Given the description of an element on the screen output the (x, y) to click on. 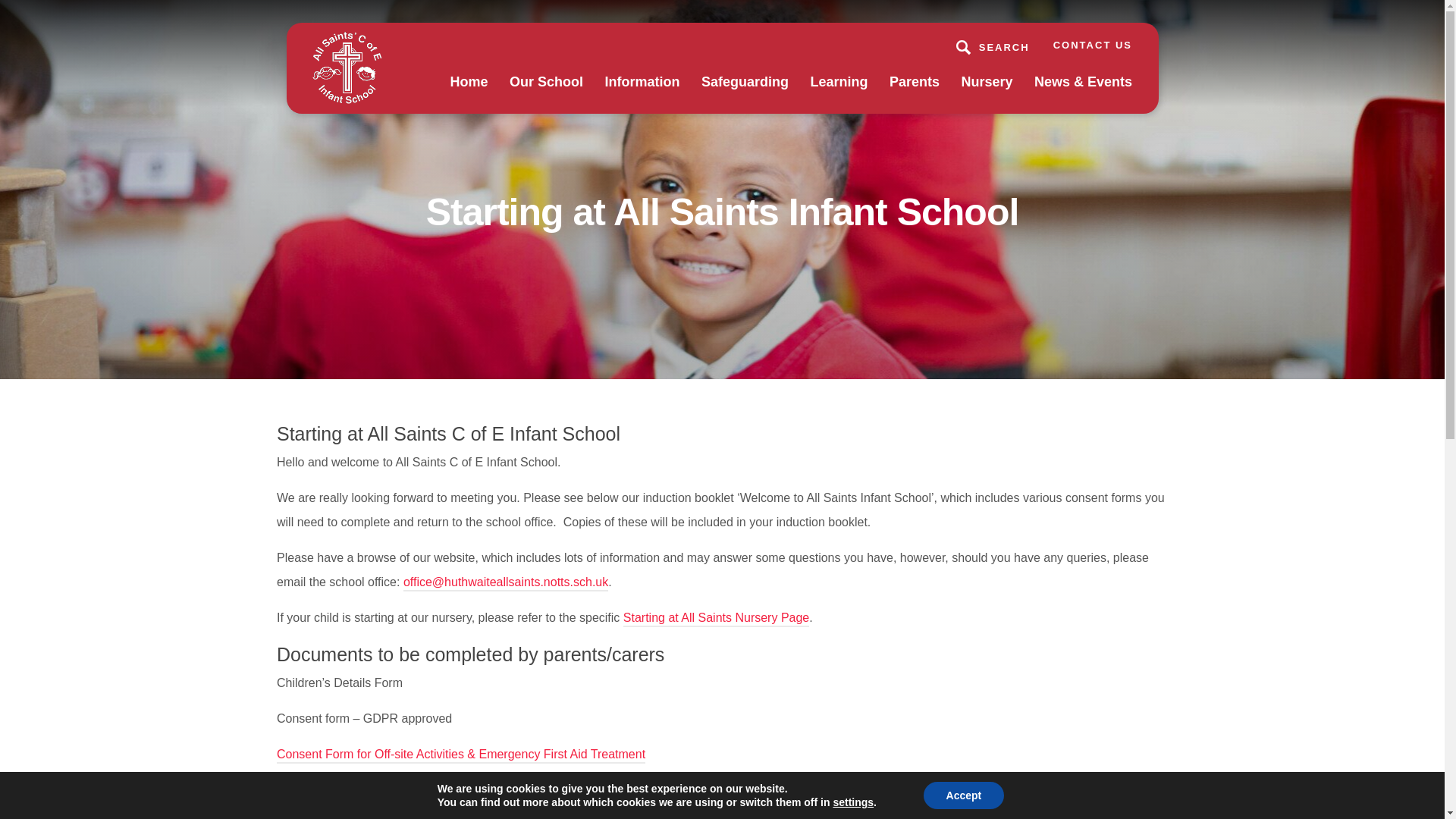
Our School (546, 92)
Home (468, 92)
Information (642, 92)
CONTACT US (1092, 44)
Learning (838, 92)
Safeguarding (745, 92)
Parents (914, 92)
